Given the description of an element on the screen output the (x, y) to click on. 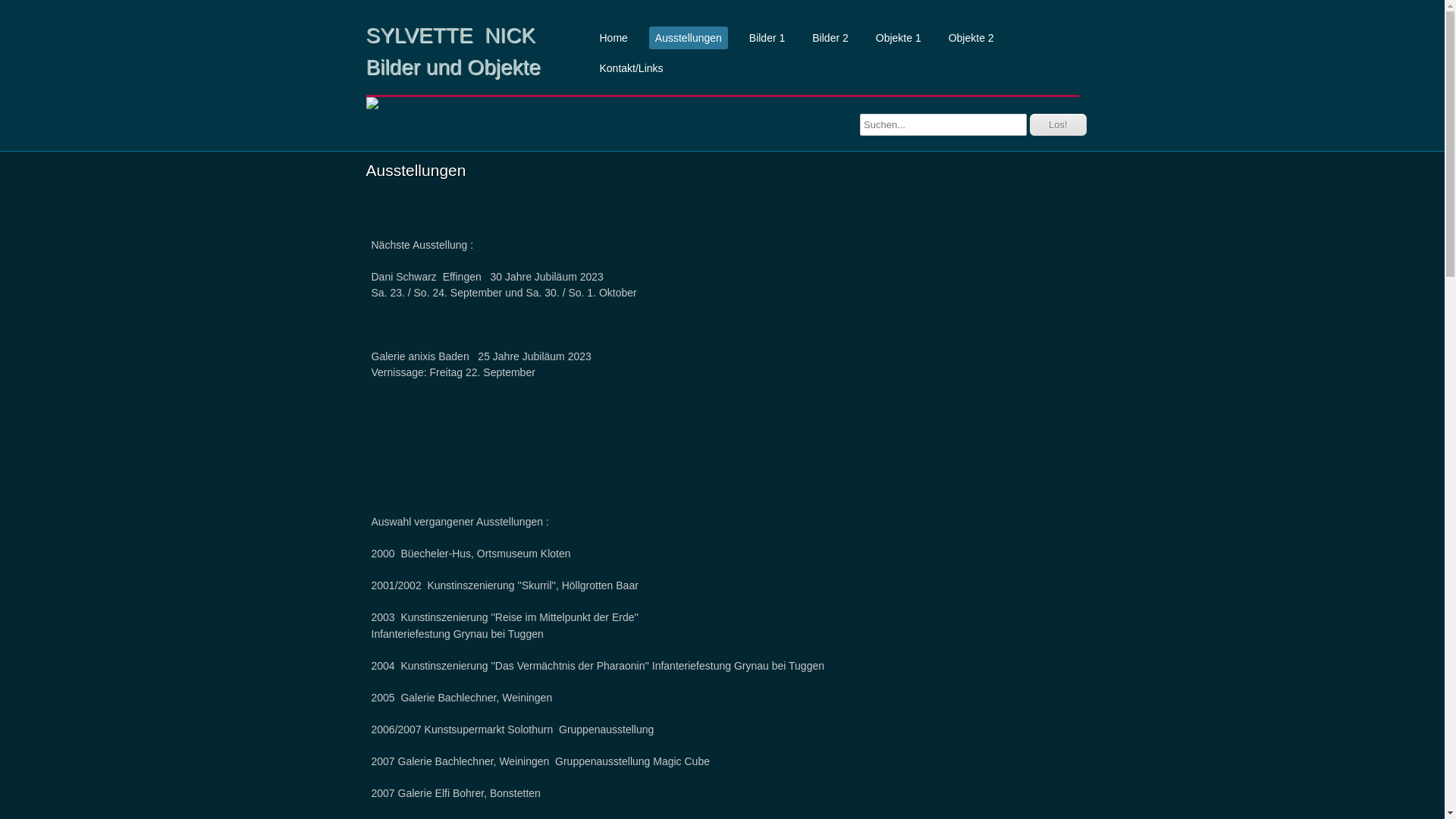
Objekte 1 Element type: text (898, 37)
Bilder 1 Element type: text (766, 37)
Objekte 2 Element type: text (971, 37)
Bilder 2 Element type: text (829, 37)
Ausstellungen Element type: text (688, 37)
Home Element type: text (613, 37)
Los! Element type: text (1057, 124)
Kontakt/Links Element type: text (630, 67)
SYLVETTE  NICK
Bilder und Objekte Element type: text (471, 51)
